Given the description of an element on the screen output the (x, y) to click on. 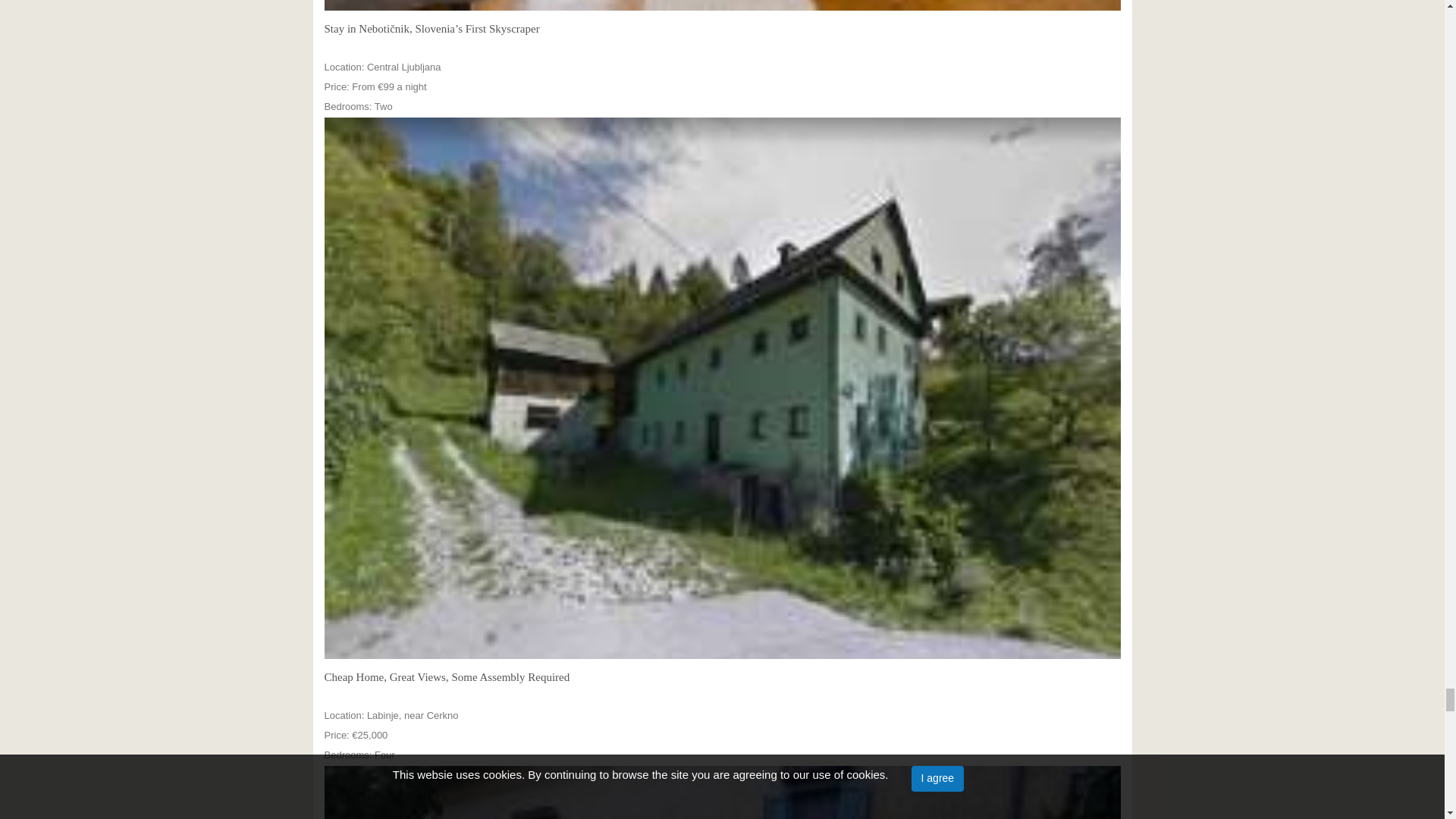
Continue reading "500-Year Old Stone Mill With Bar, Vipava" (722, 792)
